Given the description of an element on the screen output the (x, y) to click on. 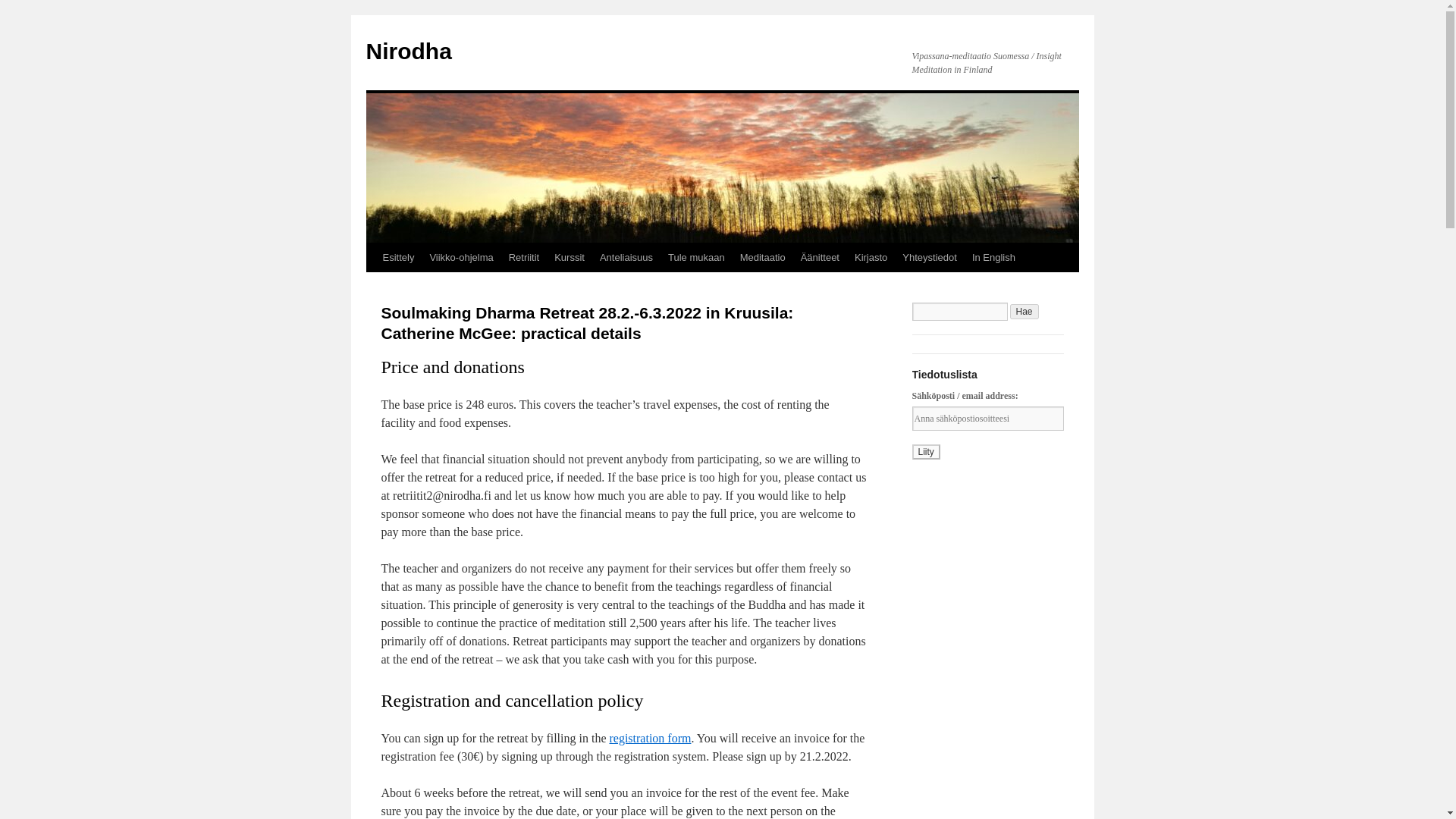
Nirodha (408, 50)
registration form (649, 738)
Anteliaisuus (626, 257)
Yhteystiedot (929, 257)
Tule mukaan (696, 257)
In English (993, 257)
Hae (1024, 311)
Liity (925, 451)
Esittely (398, 257)
Meditaatio (762, 257)
Nirodha (408, 50)
Kirjasto (871, 257)
Retriitit (523, 257)
Viikko-ohjelma (461, 257)
Kurssit (569, 257)
